Given the description of an element on the screen output the (x, y) to click on. 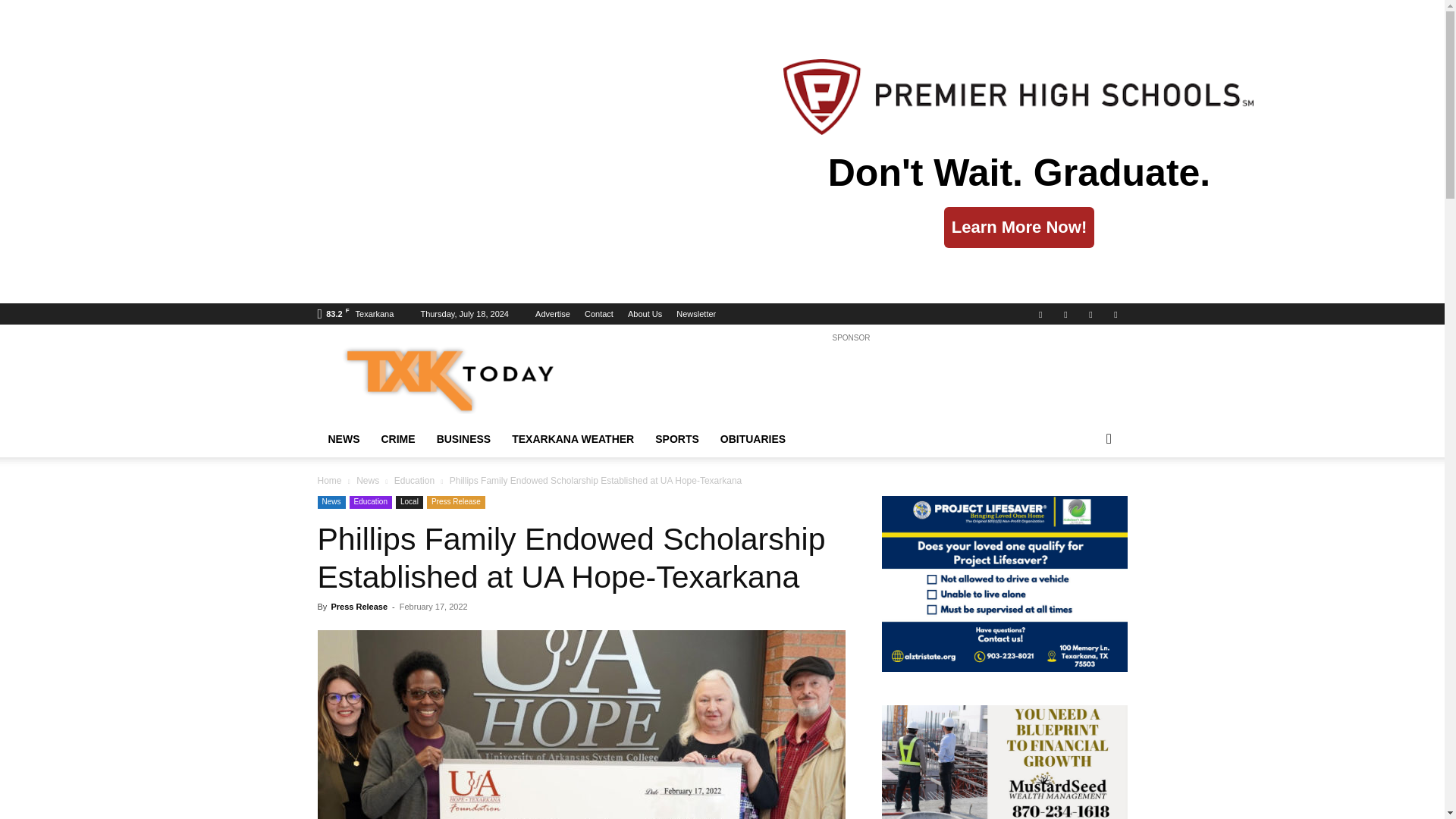
View all posts in News (367, 480)
CRIME (397, 438)
Newsletter (696, 313)
OBITUARIES (753, 438)
Home (328, 480)
TEXARKANA WEATHER (572, 438)
Search (1085, 499)
uaht foundation (580, 724)
Education (370, 502)
About Us (644, 313)
SPORTS (677, 438)
News (331, 502)
Facebook (1040, 313)
BUSINESS (464, 438)
Learn More Now! (1018, 227)
